Given the description of an element on the screen output the (x, y) to click on. 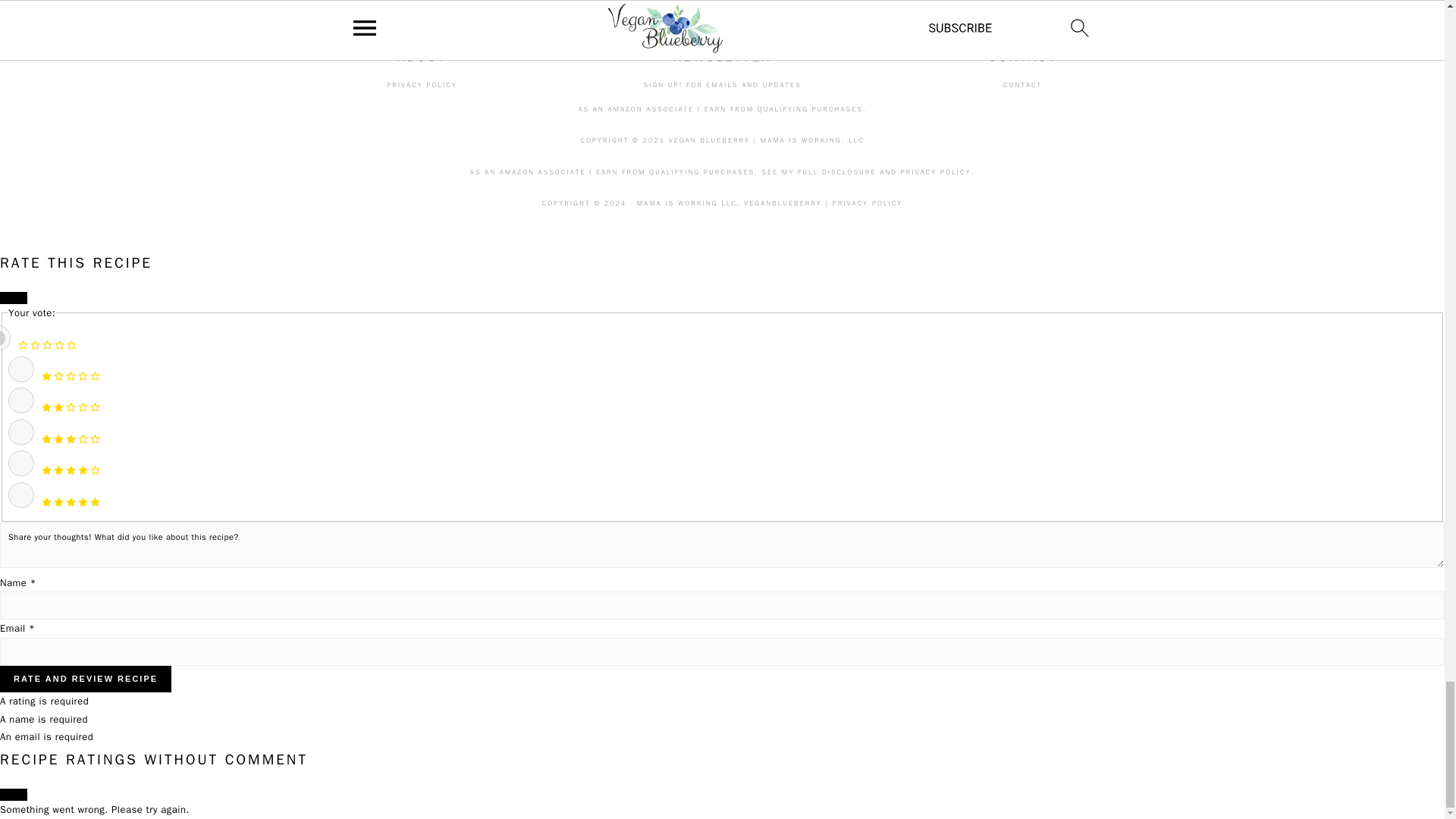
3 (20, 432)
1 (20, 369)
4 (20, 462)
5 (20, 494)
2 (20, 400)
